Given the description of an element on the screen output the (x, y) to click on. 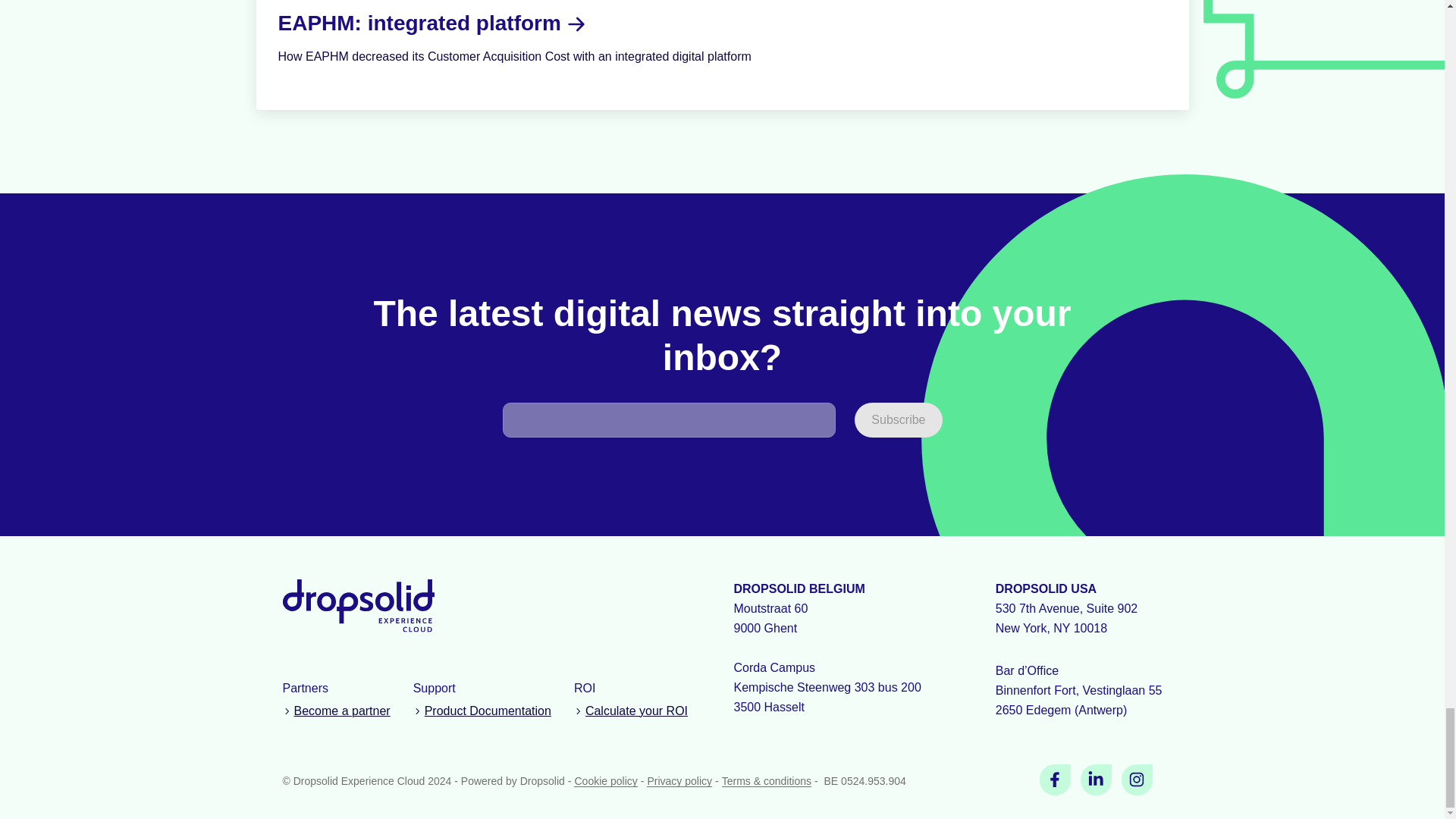
Subscribe (898, 419)
Read more (722, 54)
EAPHM: integrated platform (419, 23)
Become a partner (336, 711)
